Given the description of an element on the screen output the (x, y) to click on. 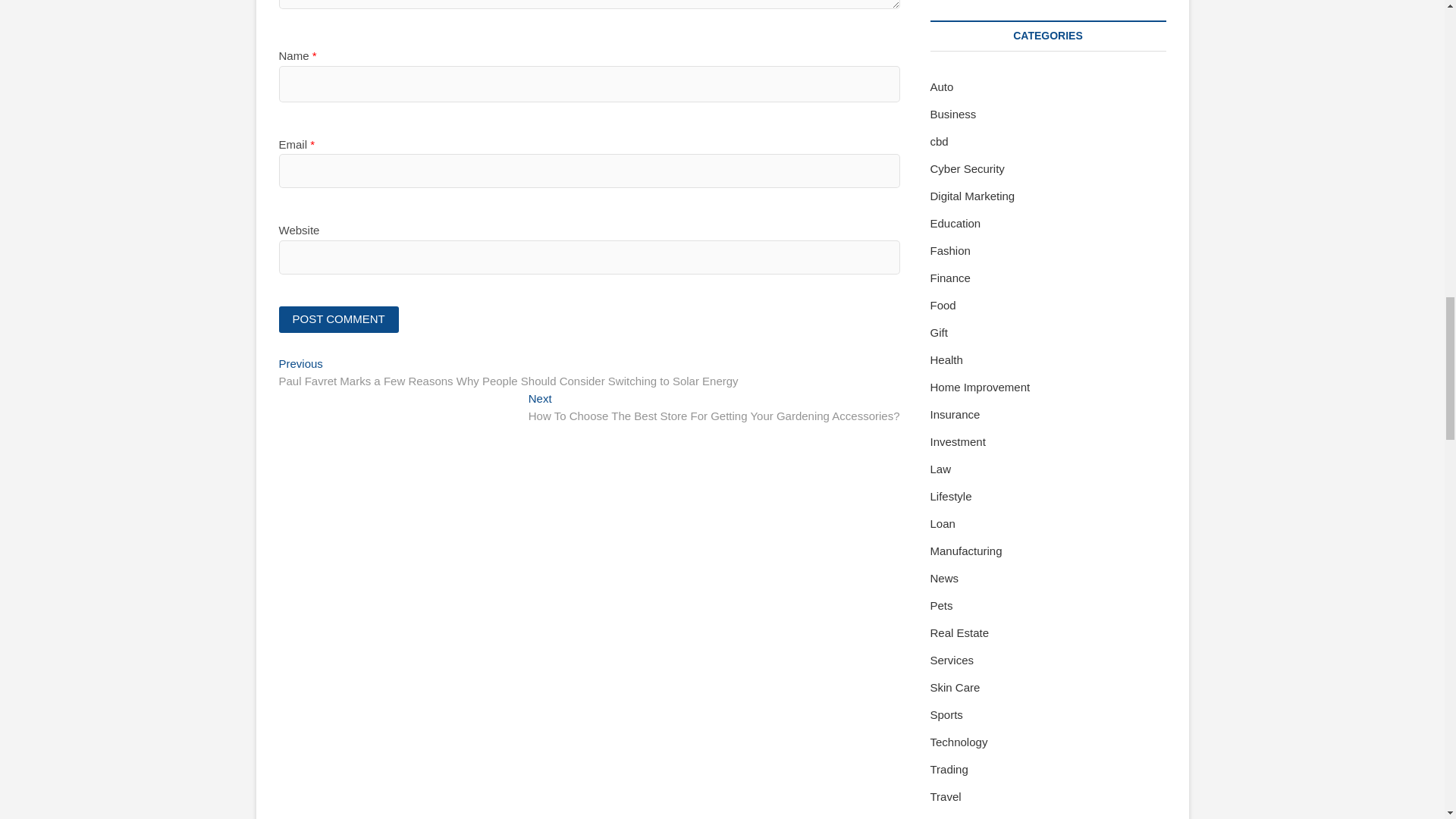
Post Comment (338, 319)
Post Comment (338, 319)
